Given the description of an element on the screen output the (x, y) to click on. 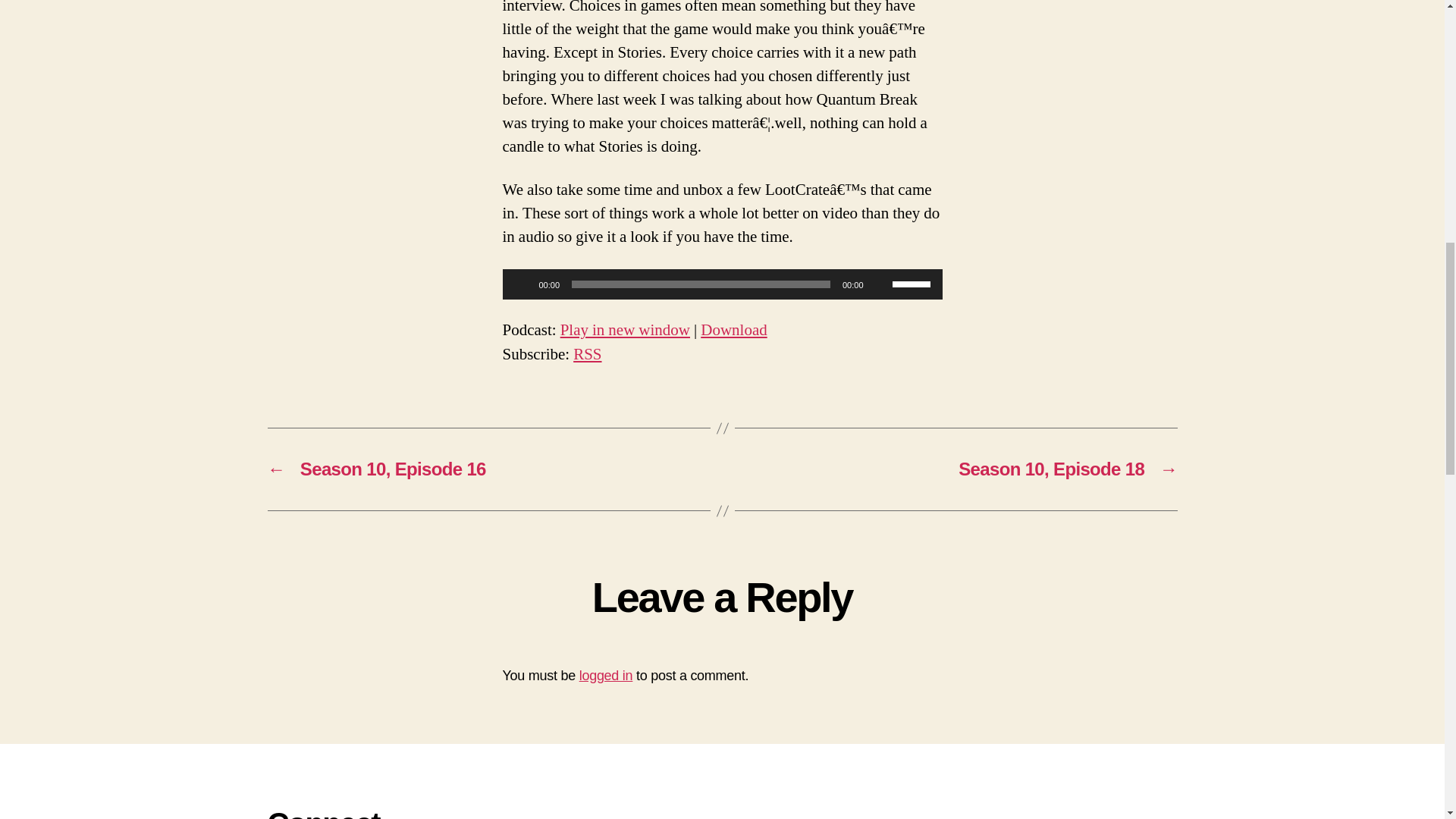
Download (733, 330)
Play (521, 283)
Subscribe via RSS (587, 353)
logged in (606, 675)
RSS (587, 353)
Play in new window (625, 330)
Mute (879, 283)
Play in new window (625, 330)
Download (733, 330)
